Given the description of an element on the screen output the (x, y) to click on. 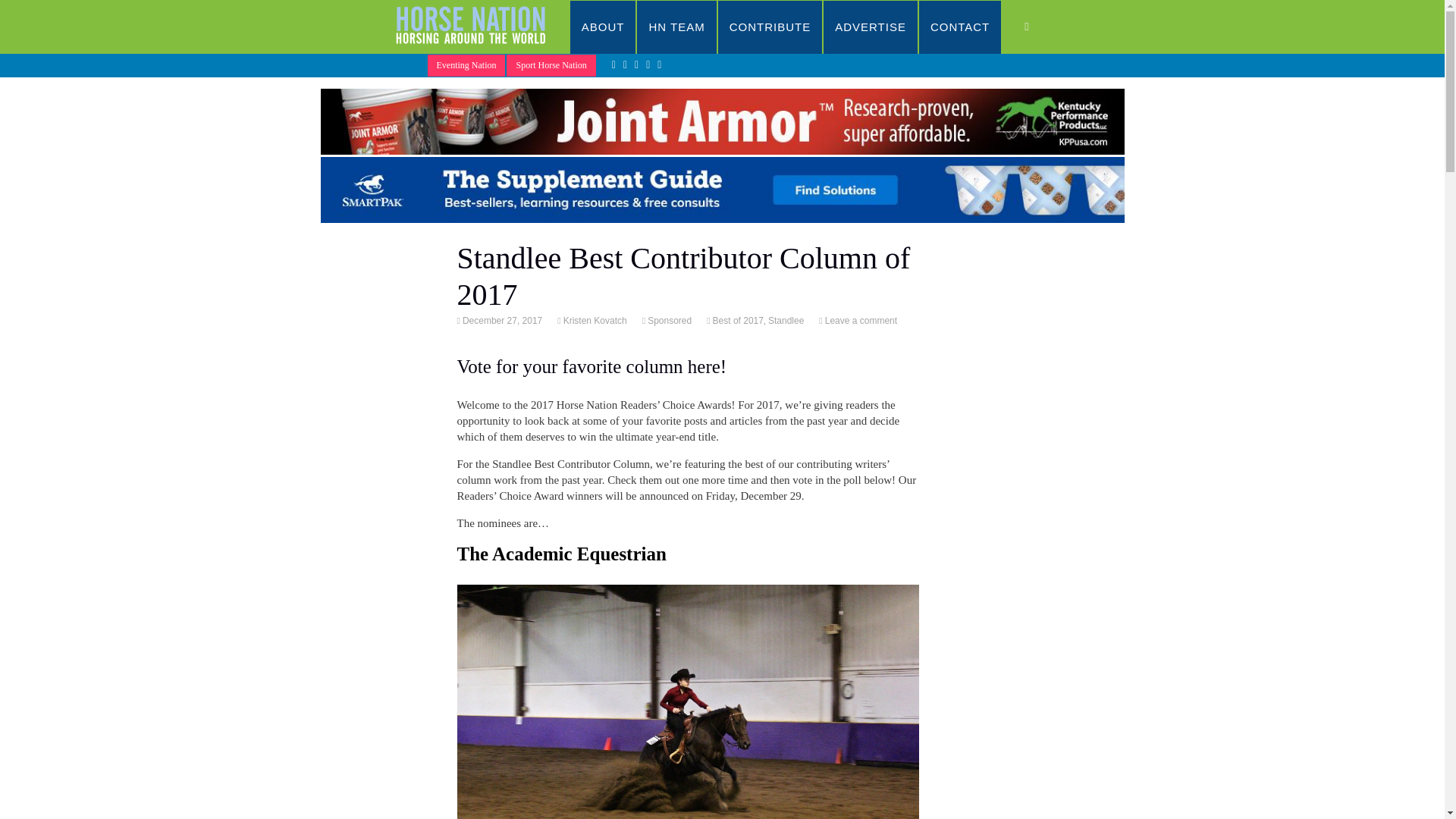
Leave a comment (859, 320)
HN TEAM (676, 27)
Best of 2017 (736, 320)
ADVERTISE (870, 27)
CONTACT (959, 27)
Standlee (785, 320)
Eventing Nation (466, 65)
Kristen Kovatch (593, 320)
Sport Horse Nation (550, 65)
ABOUT (603, 27)
Sponsored (668, 320)
View all posts by Kristen Kovatch (593, 320)
CONTRIBUTE (769, 27)
Permalink to Standlee Best Contributor Column of 2017 (500, 320)
SEARCH (1041, 27)
